Given the description of an element on the screen output the (x, y) to click on. 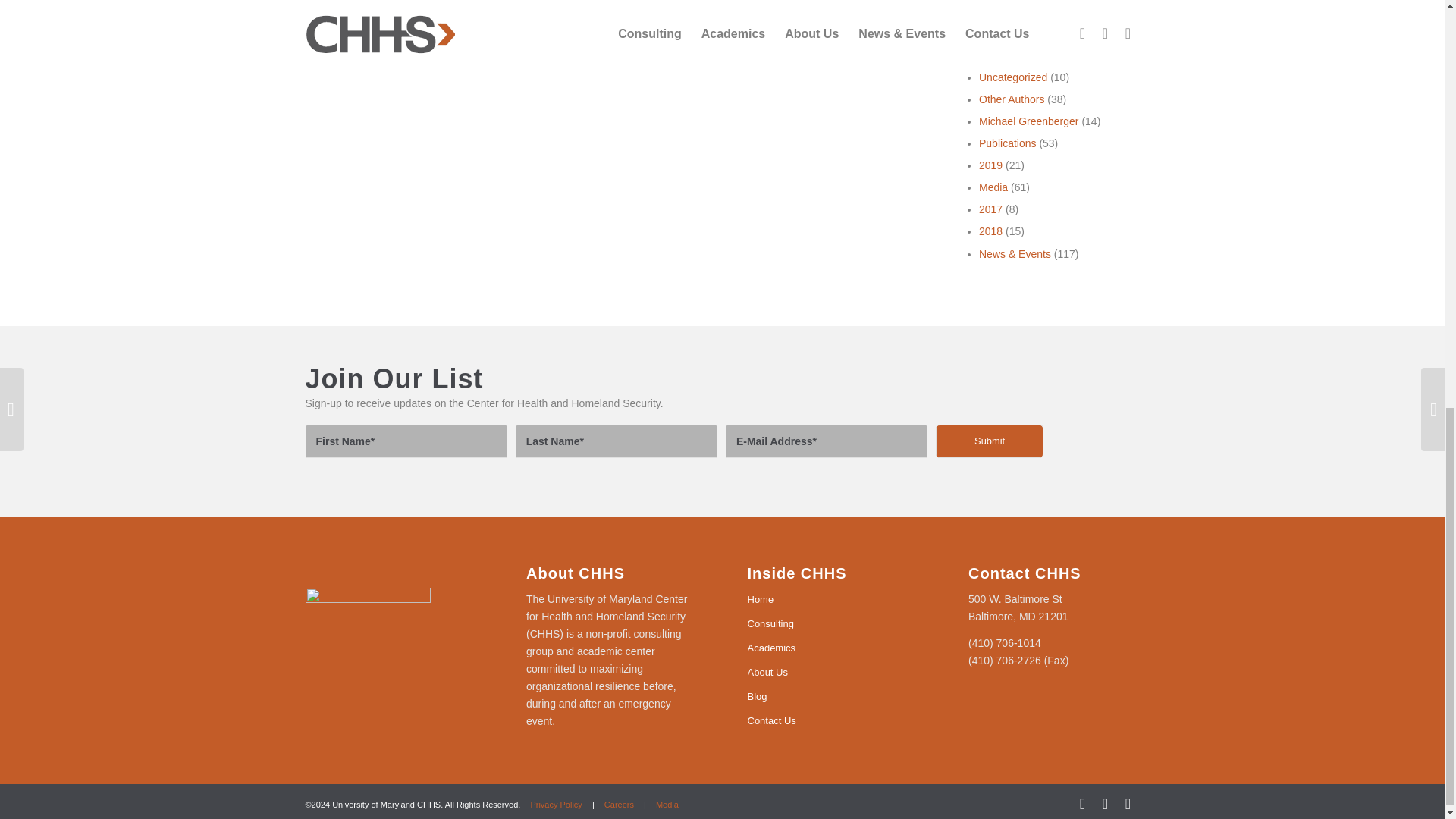
Youtube (1127, 803)
Twitter (1104, 803)
Submit (989, 441)
Facebook (1081, 803)
